Given the description of an element on the screen output the (x, y) to click on. 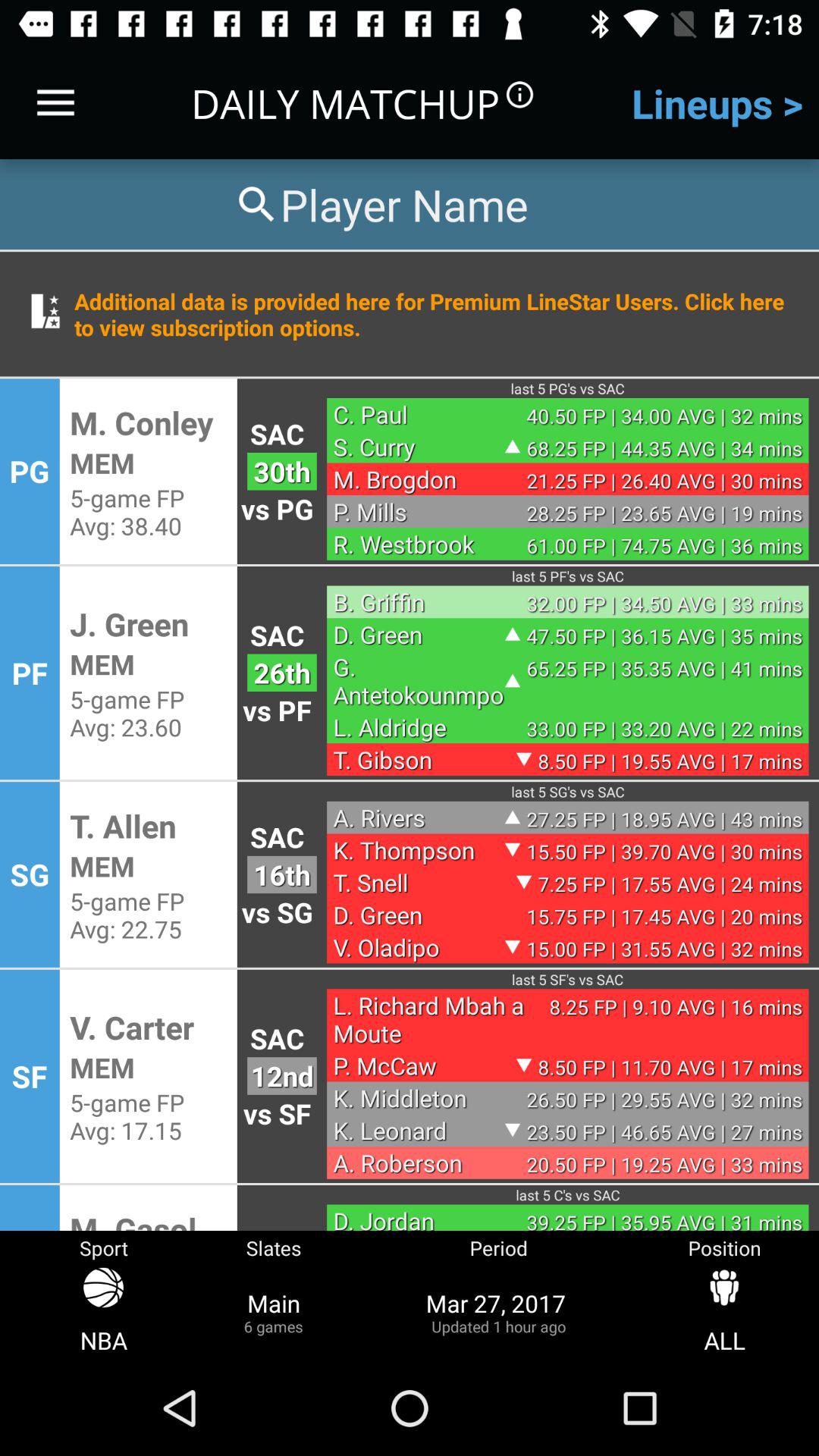
click item to the left of daily matchup icon (55, 103)
